Given the description of an element on the screen output the (x, y) to click on. 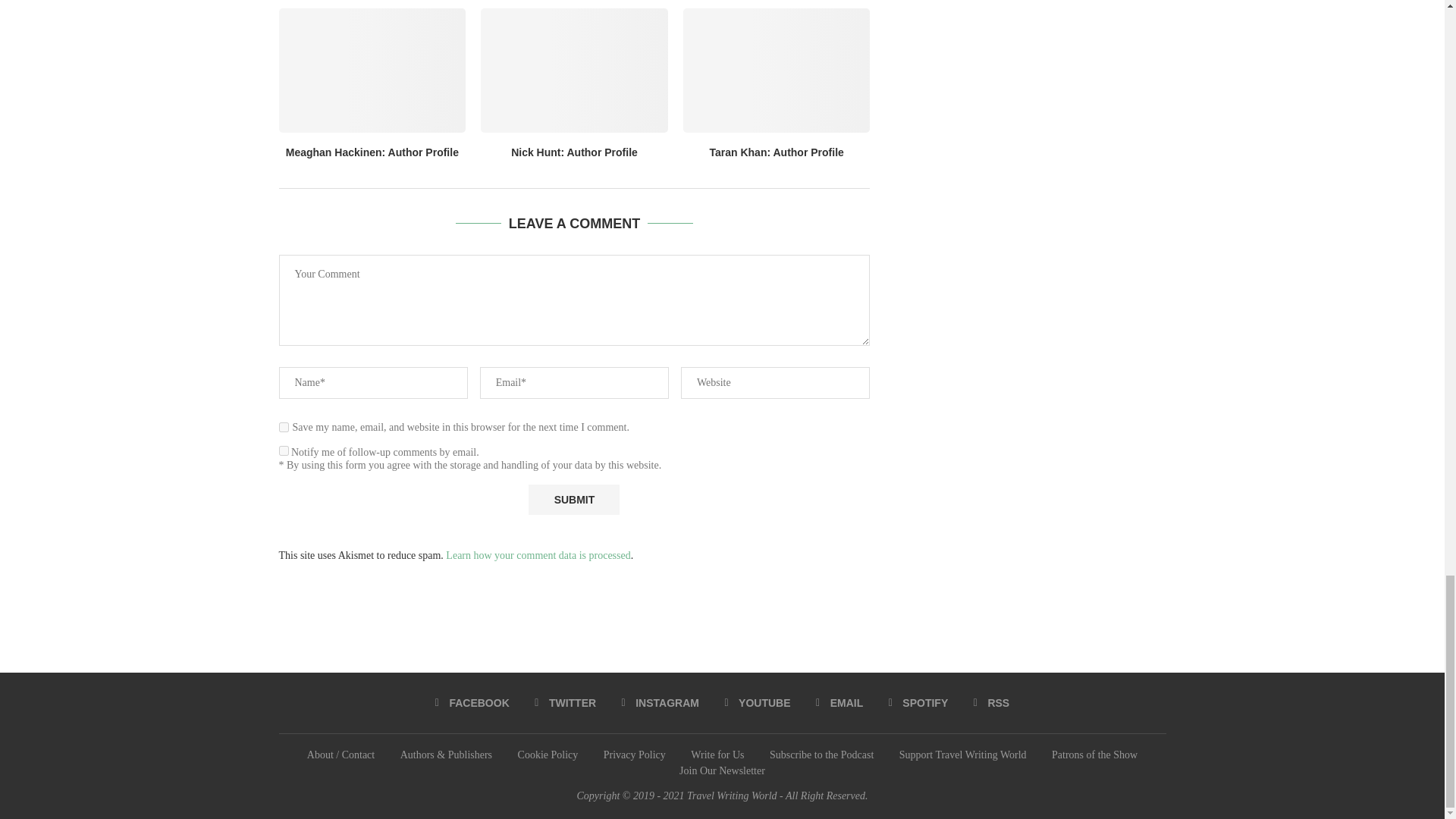
subscribe (283, 450)
Submit (574, 499)
yes (283, 427)
